Given the description of an element on the screen output the (x, y) to click on. 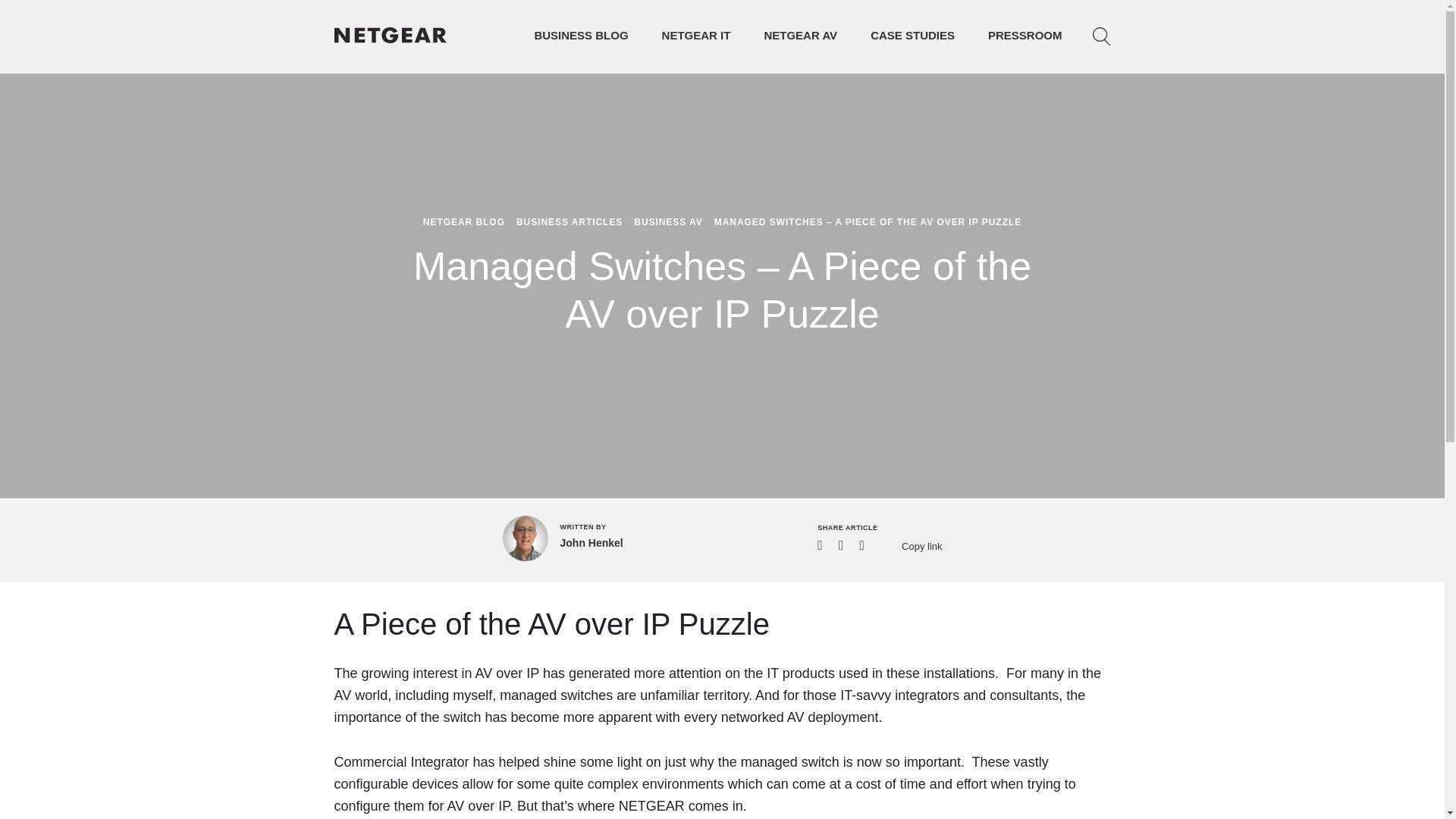
SEARCH (1100, 36)
CASE STUDIES (912, 35)
PRESSROOM (1025, 35)
Go to NETGEAR Blog. (464, 221)
Copy link (911, 545)
Go to Business AV. (667, 221)
NETGEAR AV (800, 35)
NETGEAR IT (696, 35)
BUSINESS BLOG (580, 35)
Go to Business Articles. (569, 221)
